Given the description of an element on the screen output the (x, y) to click on. 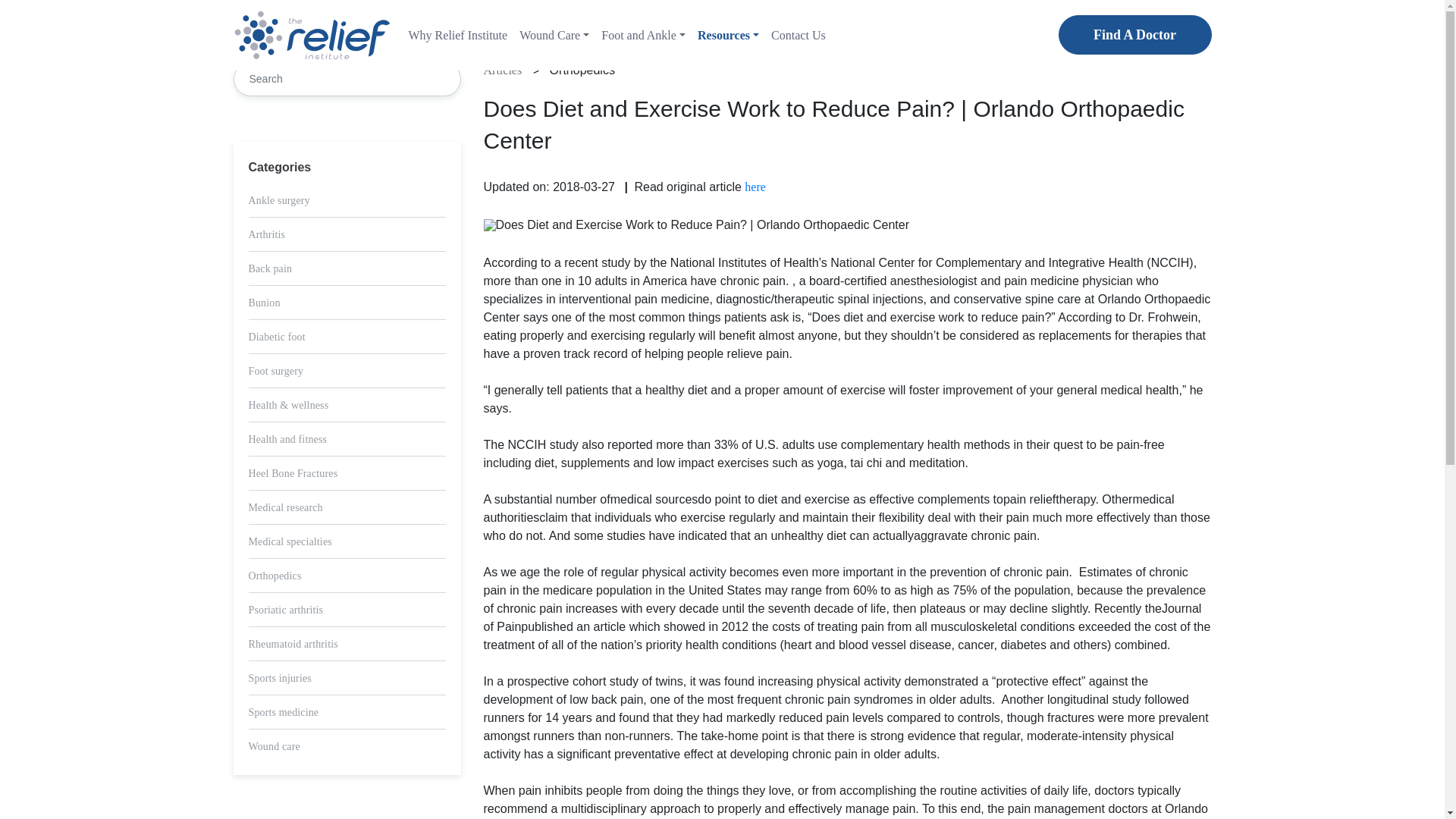
Heel Bone Fractures (292, 473)
Medical research (285, 507)
Arthritis (266, 234)
Medical specialties (289, 541)
Wound care (273, 746)
Foot and Ankle (643, 34)
Resources (728, 34)
Foot surgery (276, 370)
Find A Doctor (1134, 34)
Bunion (264, 302)
Back pain (270, 268)
Diabetic foot (276, 337)
Rheumatoid arthritis (292, 644)
Psoriatic arthritis (285, 609)
Ankle surgery (279, 200)
